Given the description of an element on the screen output the (x, y) to click on. 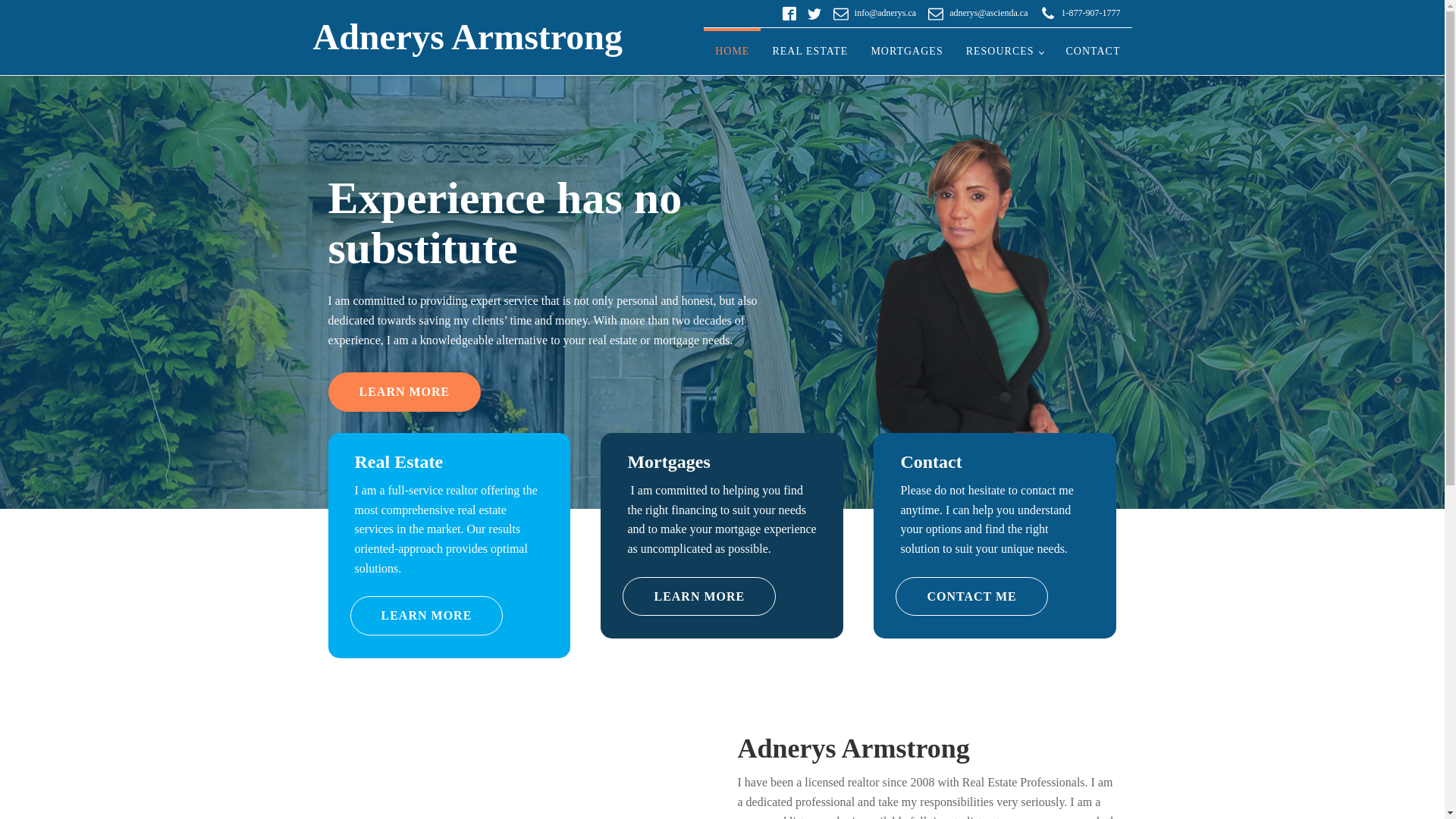
CONTACT ME Element type: text (971, 596)
RESOURCES Element type: text (1004, 51)
LEARN MORE Element type: text (403, 391)
LEARN MORE Element type: text (698, 596)
REAL ESTATE Element type: text (809, 51)
1-877-907-1777 Element type: text (1090, 13)
info@adnerys.ca Element type: text (885, 13)
LEARN MORE Element type: text (426, 615)
CONTACT Element type: text (1092, 51)
Adnerys Armstrong Element type: text (466, 37)
HOME Element type: text (731, 51)
MORTGAGES Element type: text (906, 51)
adnerys@ascienda.ca Element type: text (988, 13)
